Given the description of an element on the screen output the (x, y) to click on. 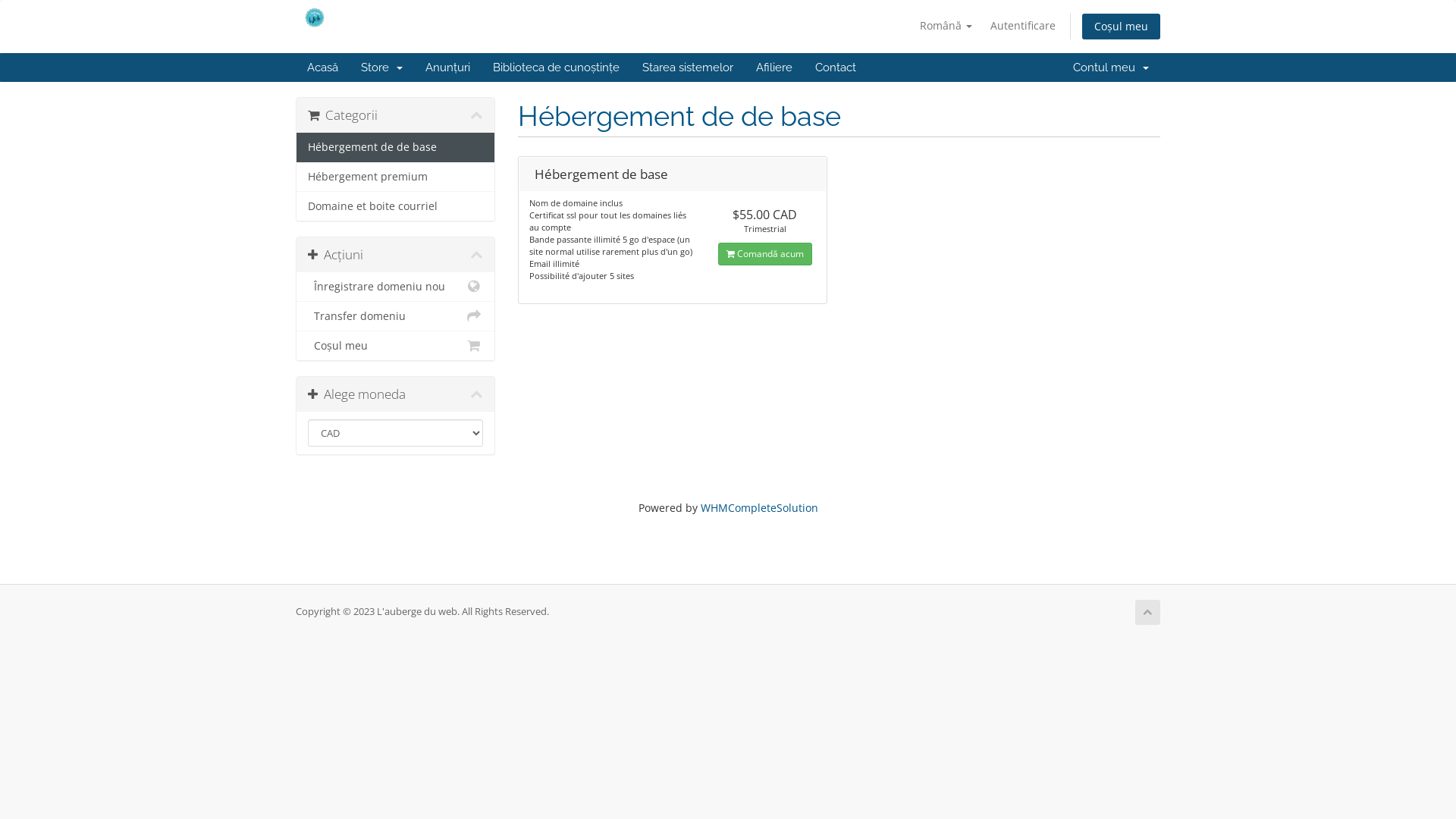
Domaine et boite courriel Element type: text (395, 205)
Store   Element type: text (381, 67)
  Transfer domeniu Element type: text (395, 316)
Starea sistemelor Element type: text (687, 67)
Afiliere Element type: text (773, 67)
WHMCompleteSolution Element type: text (759, 507)
Autentificare Element type: text (1022, 25)
Contact Element type: text (835, 67)
Contul meu   Element type: text (1110, 67)
